Given the description of an element on the screen output the (x, y) to click on. 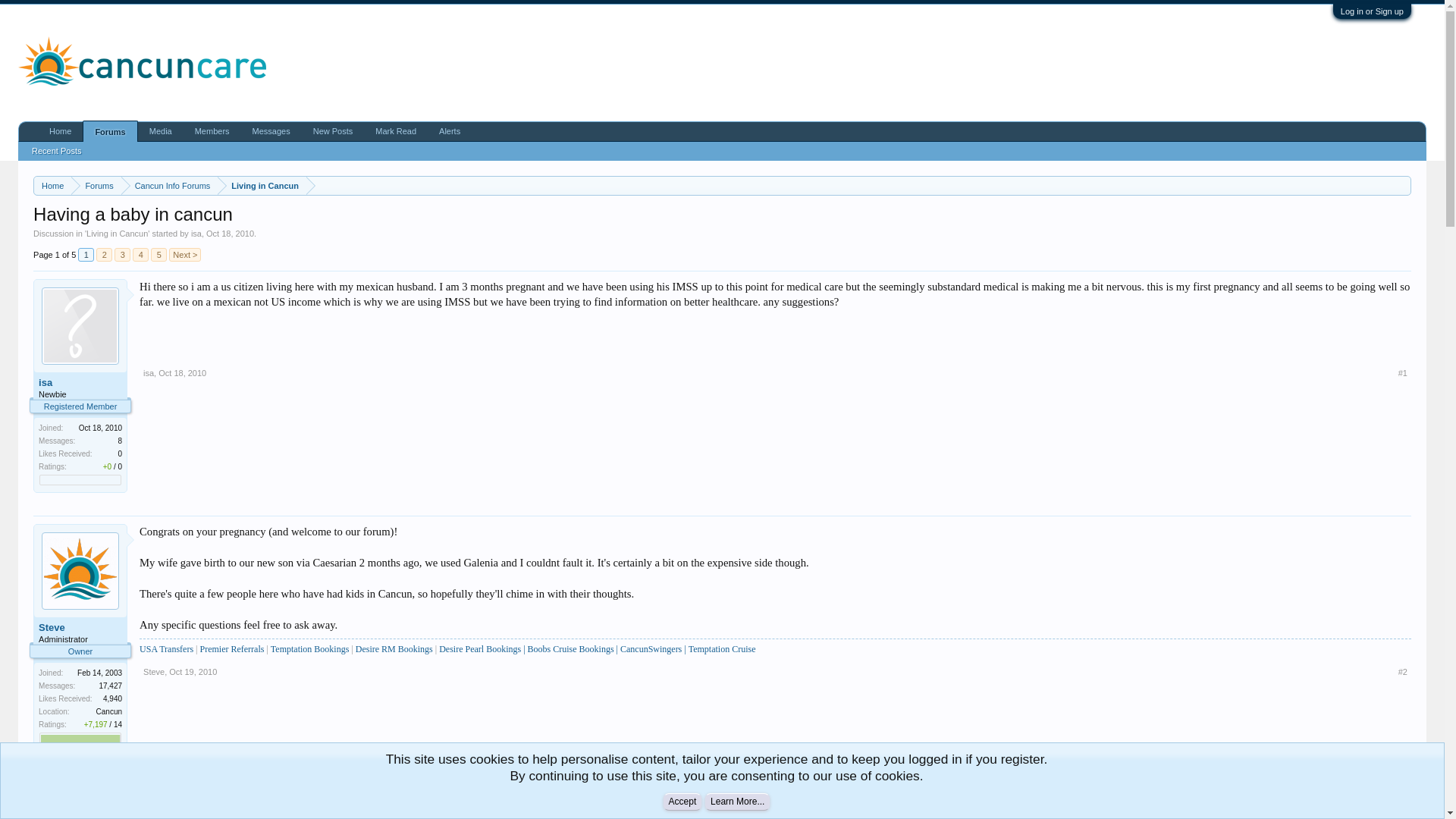
Desire Pearl Bookings (479, 648)
USA Transfers (165, 648)
Oct 18, 2010 (229, 233)
1 (86, 254)
Steve (153, 671)
isa (196, 233)
Temptation Bookings (309, 648)
Forums (95, 185)
Log in or Sign up (1371, 10)
isa (148, 372)
Permalink (192, 671)
Living in Cancun (116, 233)
Cancun (109, 711)
Permalink (182, 372)
4 (140, 254)
